Given the description of an element on the screen output the (x, y) to click on. 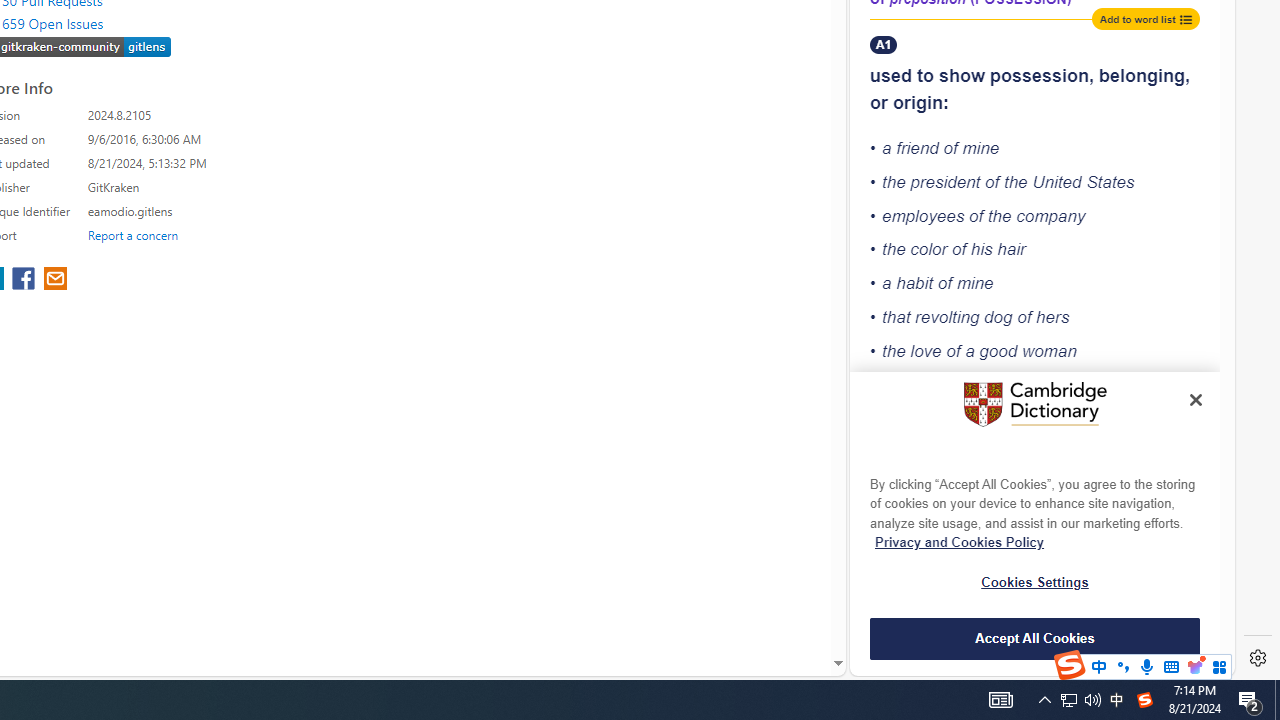
club (1096, 513)
complete (945, 385)
More information about your privacy, opens in a new tab (959, 542)
belonging (1142, 75)
